Given the description of an element on the screen output the (x, y) to click on. 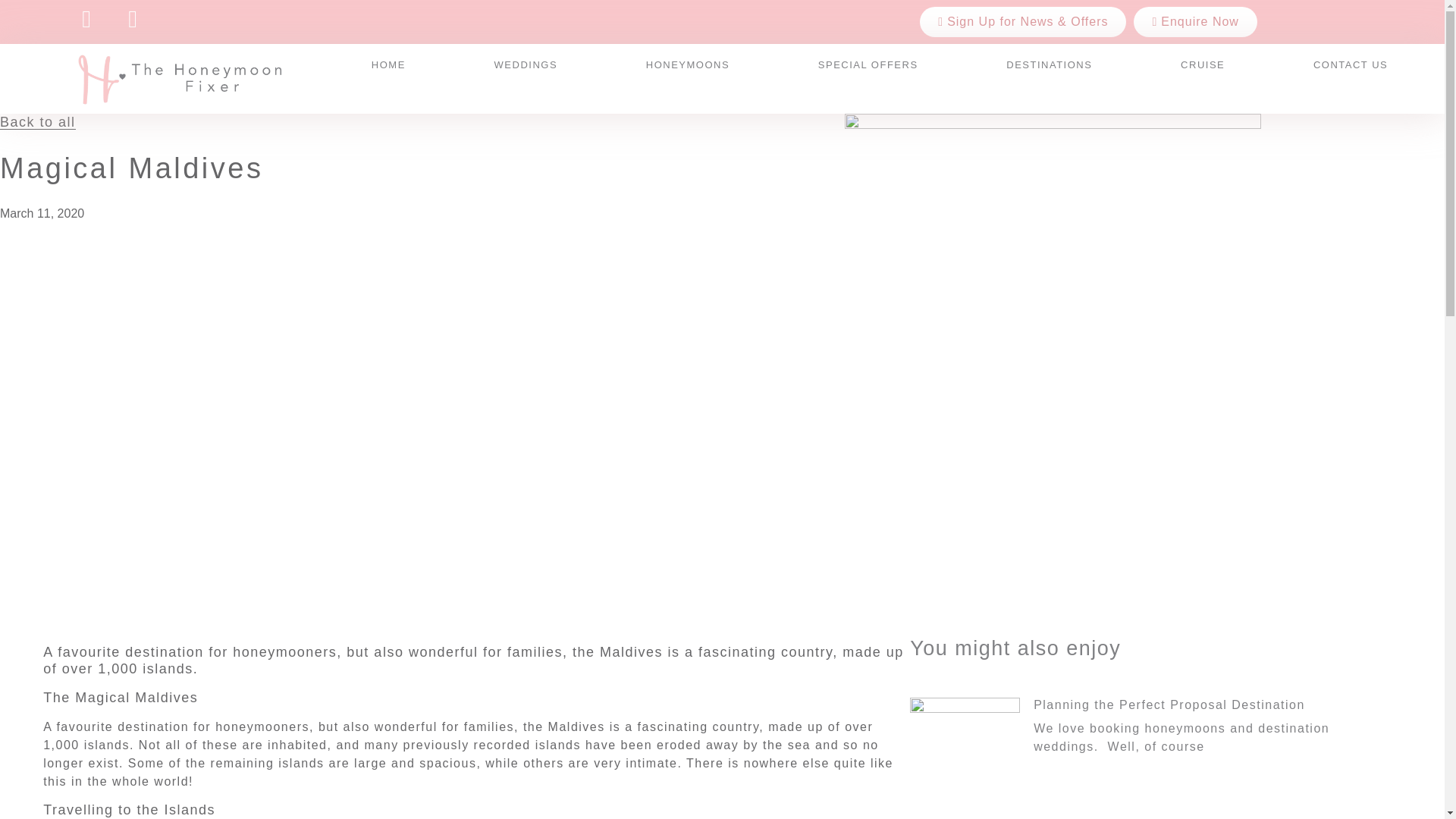
WEDDINGS (525, 64)
SPECIAL OFFERS (866, 64)
HONEYMOONS (687, 64)
Enquire Now (1195, 21)
DESTINATIONS (1049, 64)
HOME (388, 64)
CRUISE (1203, 64)
